Given the description of an element on the screen output the (x, y) to click on. 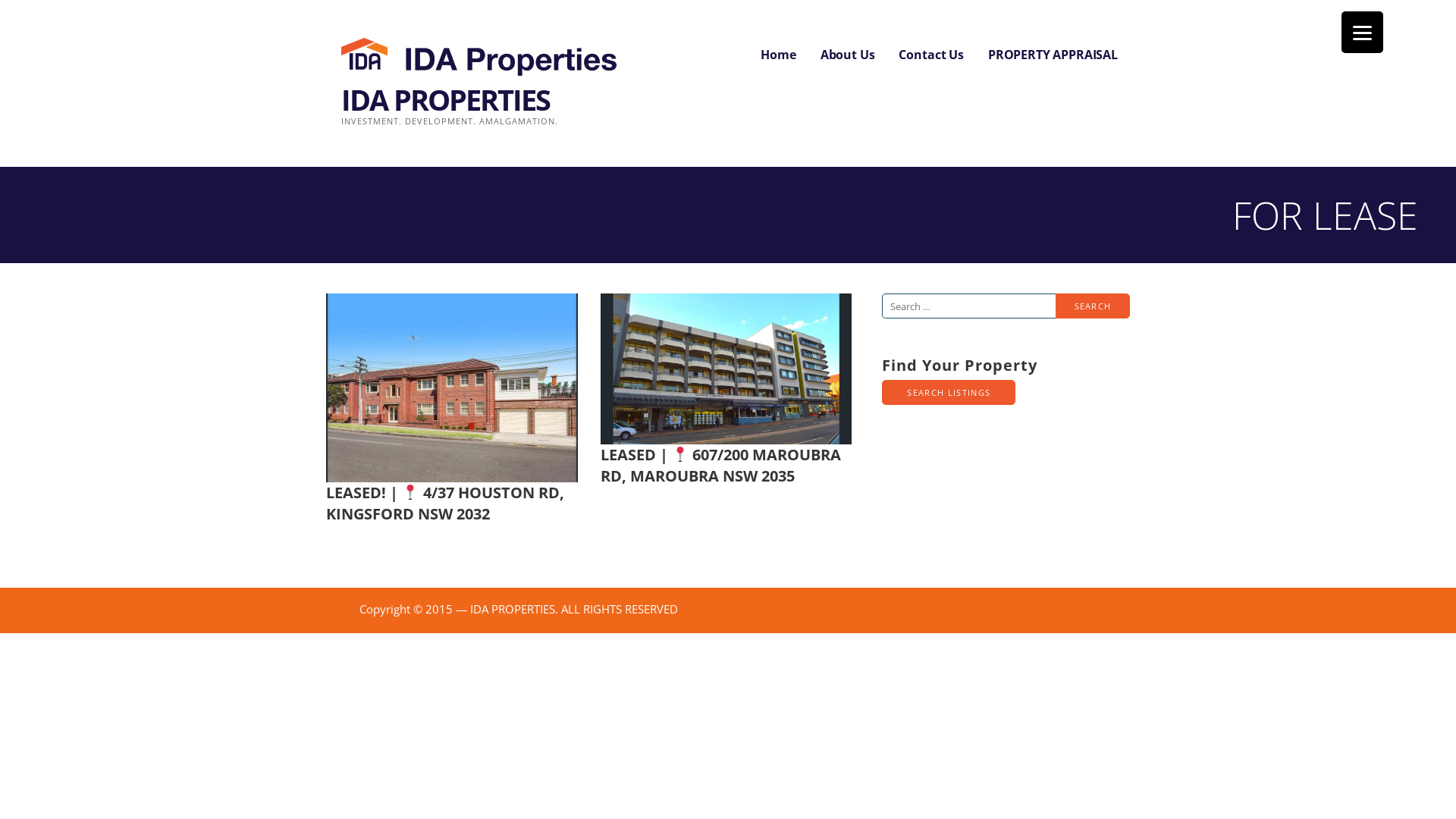
SEARCH LISTINGS Element type: text (948, 391)
Contact Us Element type: text (930, 55)
About Us Element type: text (847, 55)
Search Element type: text (1092, 305)
IDA PROPERTIES Element type: text (445, 99)
Skip to content Element type: text (0, 0)
PROPERTY APPRAISAL Element type: text (1052, 55)
Home Element type: text (777, 55)
